Given the description of an element on the screen output the (x, y) to click on. 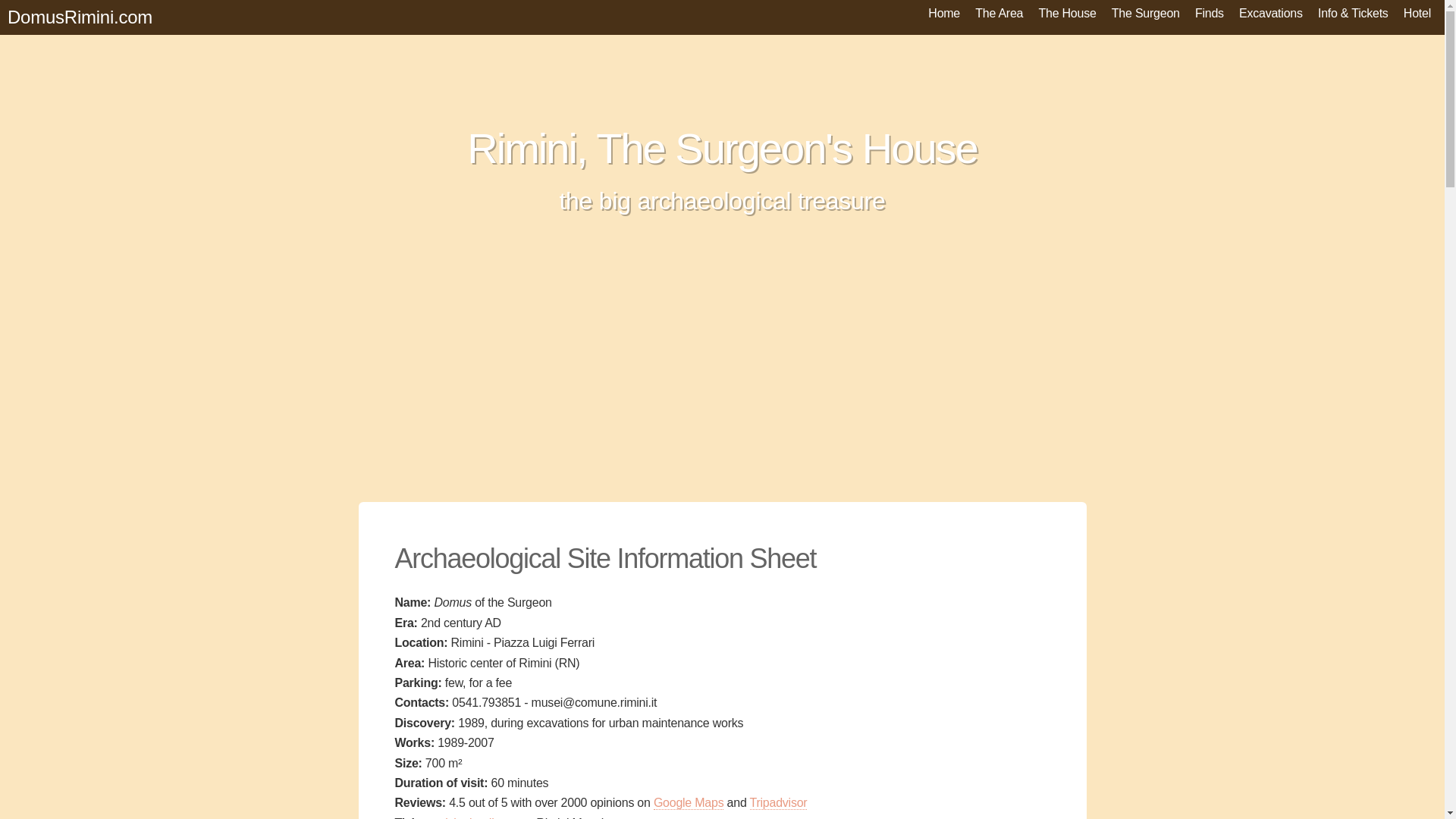
The Surgeon (1145, 13)
Google Maps (688, 802)
ticketlandia.com (483, 817)
Tripadvisor (778, 802)
DomusRimini.com (79, 16)
The House (1067, 13)
Home (943, 13)
Excavations (1270, 13)
DomusRimini.com (79, 16)
The Area (999, 13)
Finds (1209, 13)
